Given the description of an element on the screen output the (x, y) to click on. 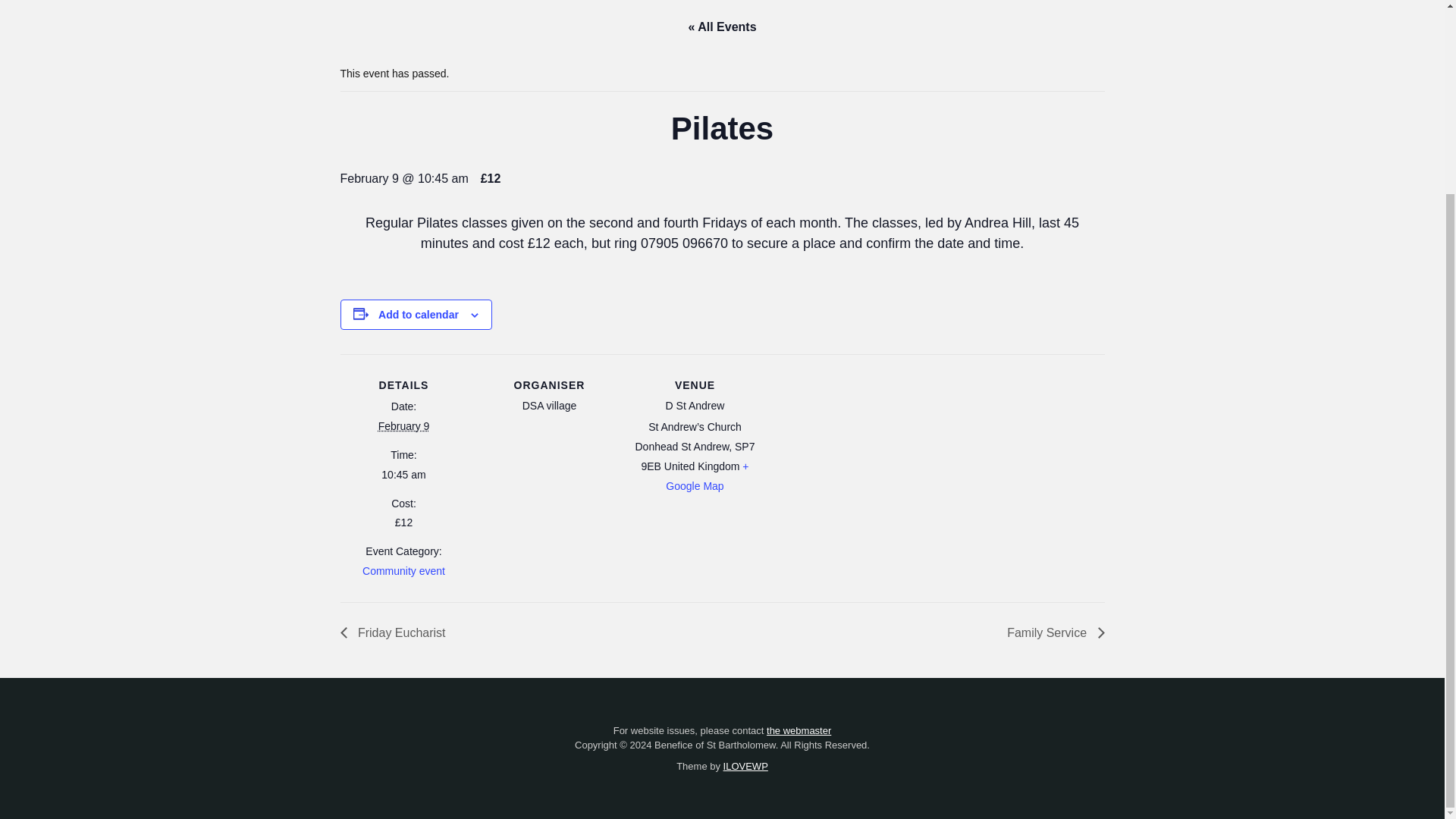
Google maps iframe displaying the address to D St Andrew (856, 458)
Click to view a Google Map (706, 476)
2024-02-09 (403, 474)
2024-02-09 (403, 426)
